Given the description of an element on the screen output the (x, y) to click on. 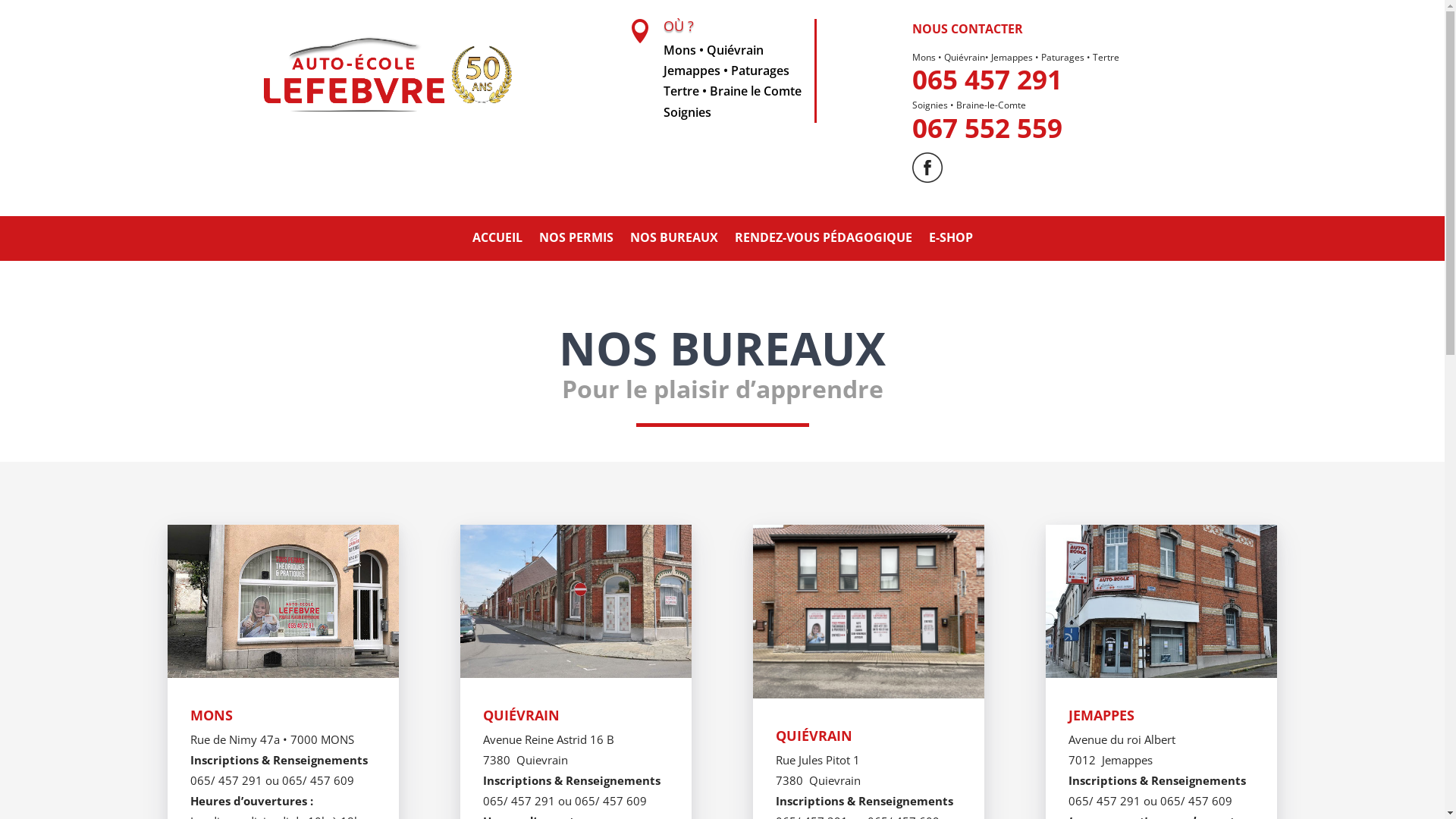
NOS PERMIS Element type: text (575, 239)
Page facebook Autoecole lefebvre Element type: hover (927, 167)
NOS BUREAUX Element type: text (673, 239)
E-SHOP Element type: text (950, 239)
AEL logo Element type: hover (384, 74)
facade mons-crop-u258003_2x Element type: hover (282, 600)
facade_quievrain_2x Element type: hover (575, 600)
067 552 559 Element type: text (987, 127)
ACCUEIL Element type: text (496, 239)
facade_jemappes_2x Element type: hover (1161, 600)
065 457 291 Element type: text (987, 79)
